Given the description of an element on the screen output the (x, y) to click on. 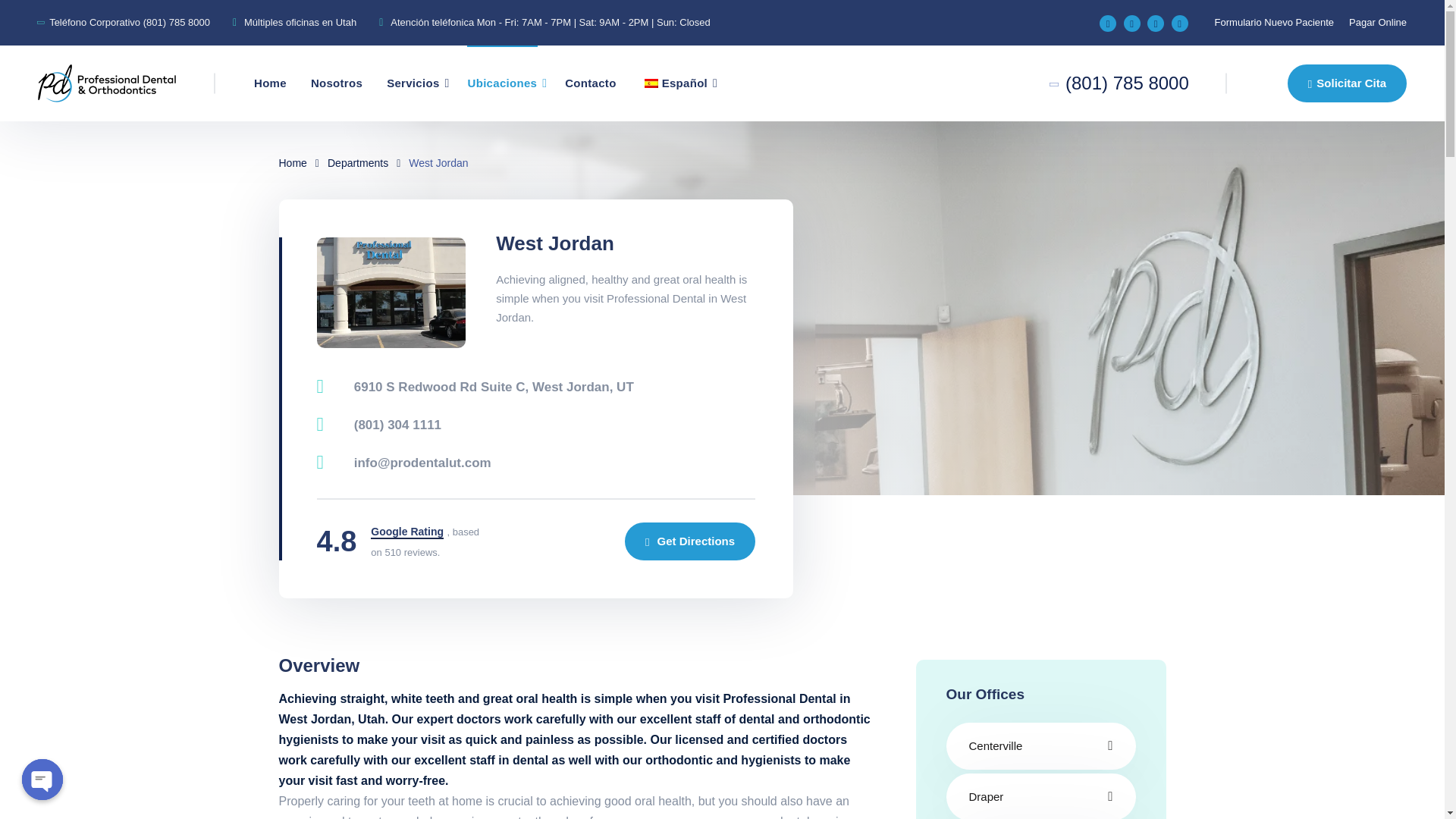
Linkedin (1180, 23)
Instagram (1132, 23)
Pagar Online (1377, 21)
Pinterest (1155, 23)
Ubicaciones (502, 83)
Servicios (412, 83)
Facebook (1107, 23)
Nosotros (336, 83)
Formulario Nuevo Paciente (1274, 21)
